Given the description of an element on the screen output the (x, y) to click on. 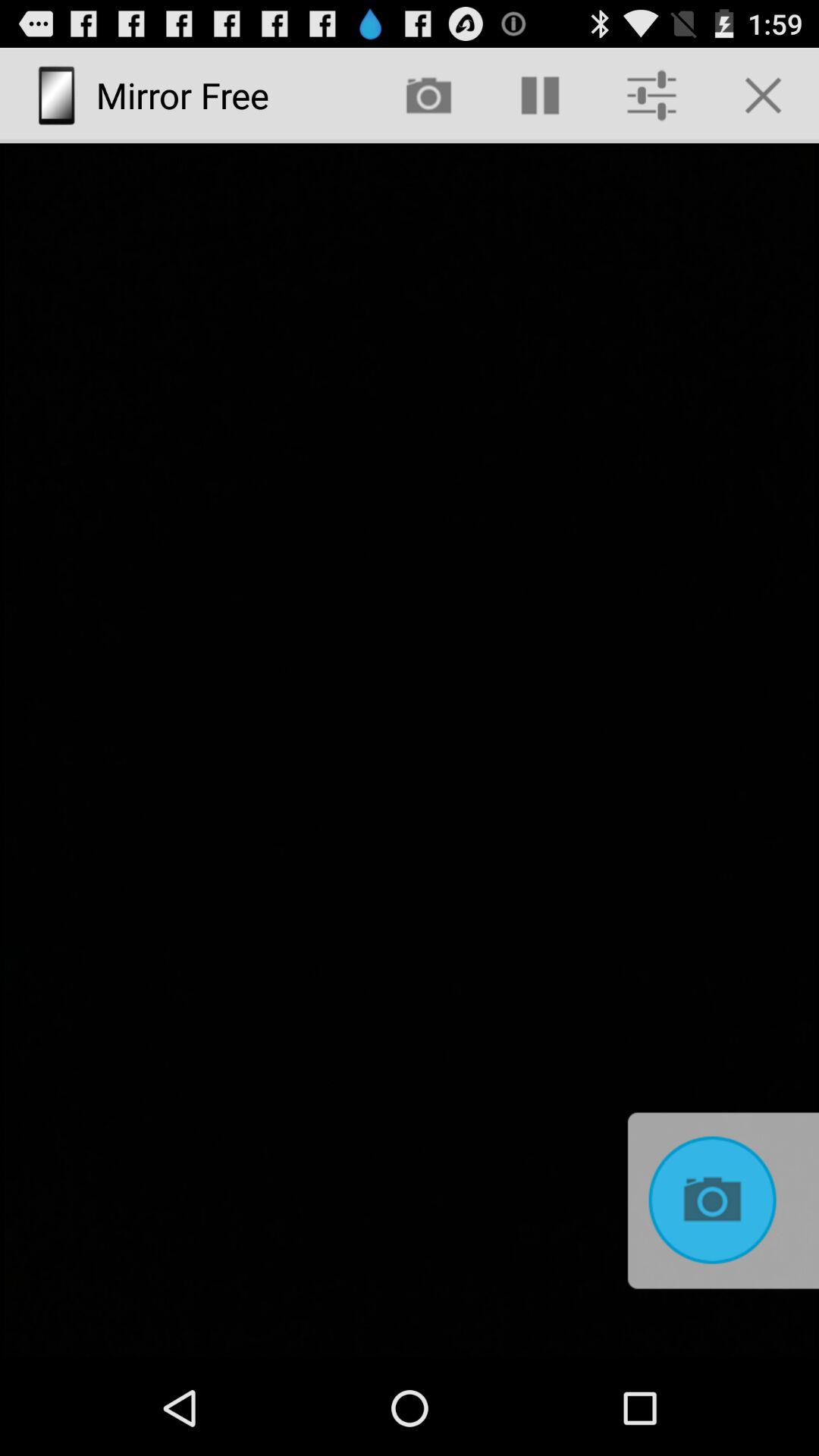
select icon at the bottom right corner (719, 1200)
